Given the description of an element on the screen output the (x, y) to click on. 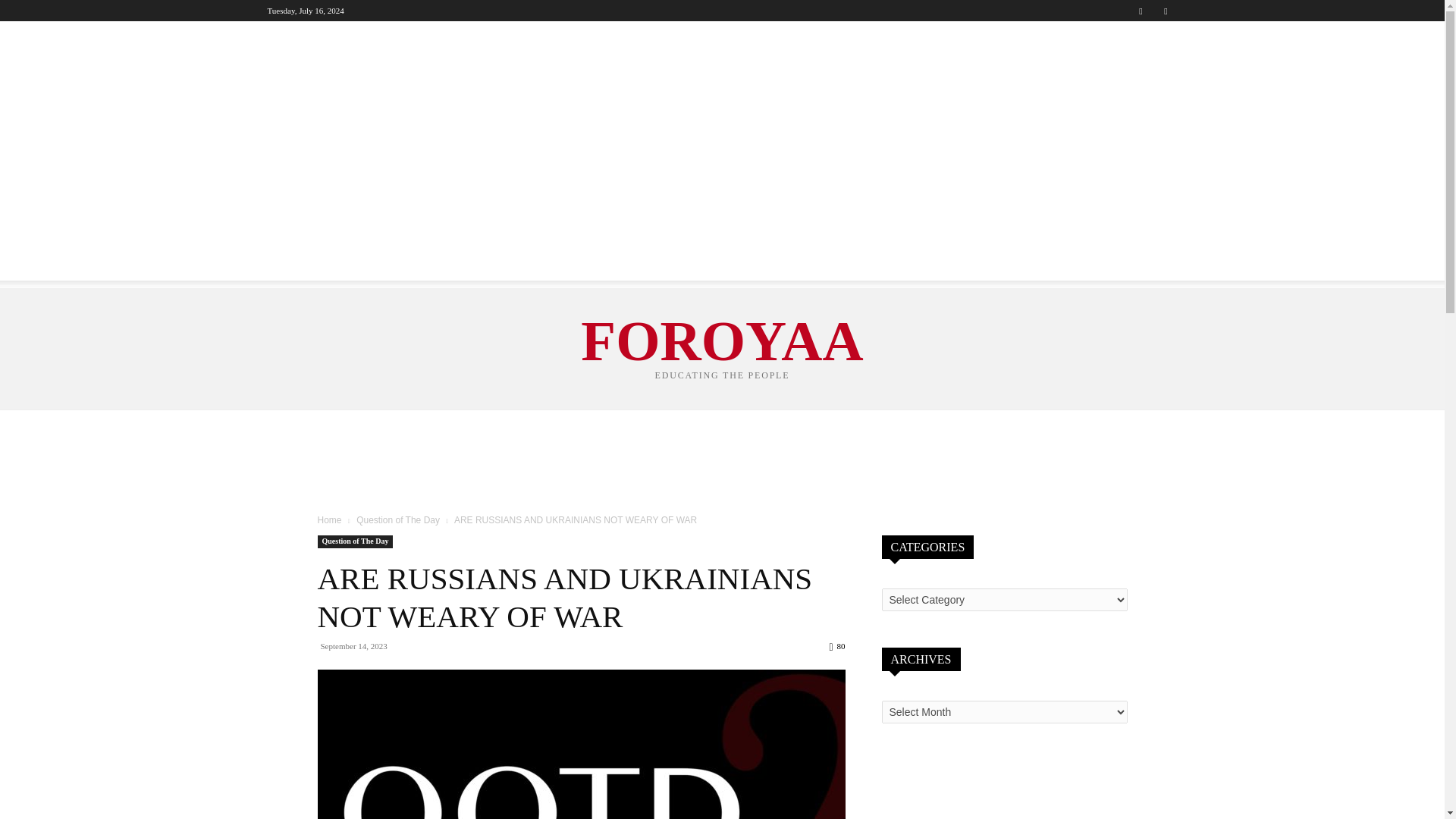
Facebook (1140, 10)
Twitter (1165, 10)
ALL NEWS (302, 40)
